Given the description of an element on the screen output the (x, y) to click on. 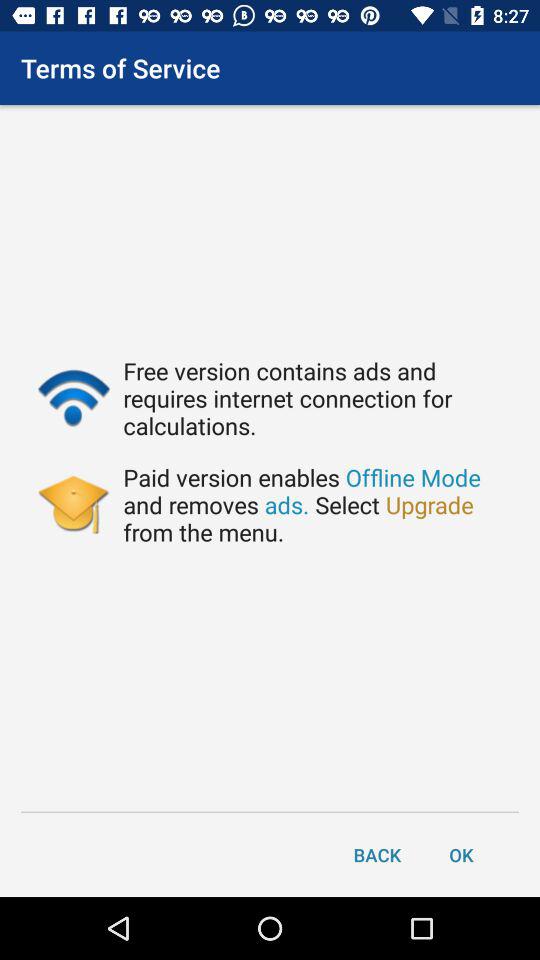
tap back item (377, 854)
